Given the description of an element on the screen output the (x, y) to click on. 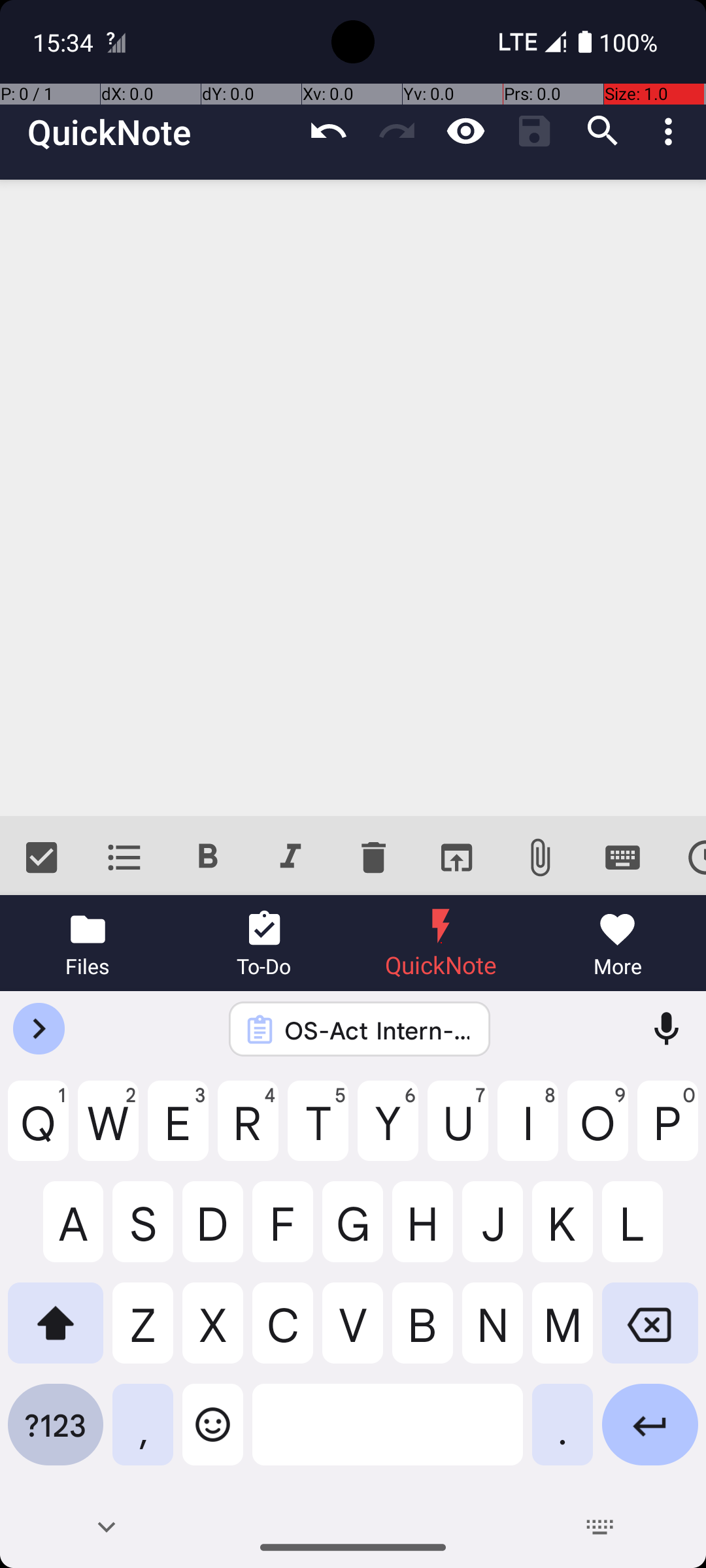
OS-Act	Intern-VL2-4B	✅	240913-3 (OOD) OS-Act	Intern-VL2-4B	✅	240913-4 (OOD) OS-Act	Intern-VL2-4B	✅	240914-1 (OOD) Element type: android.widget.TextView (376, 1029)
